Given the description of an element on the screen output the (x, y) to click on. 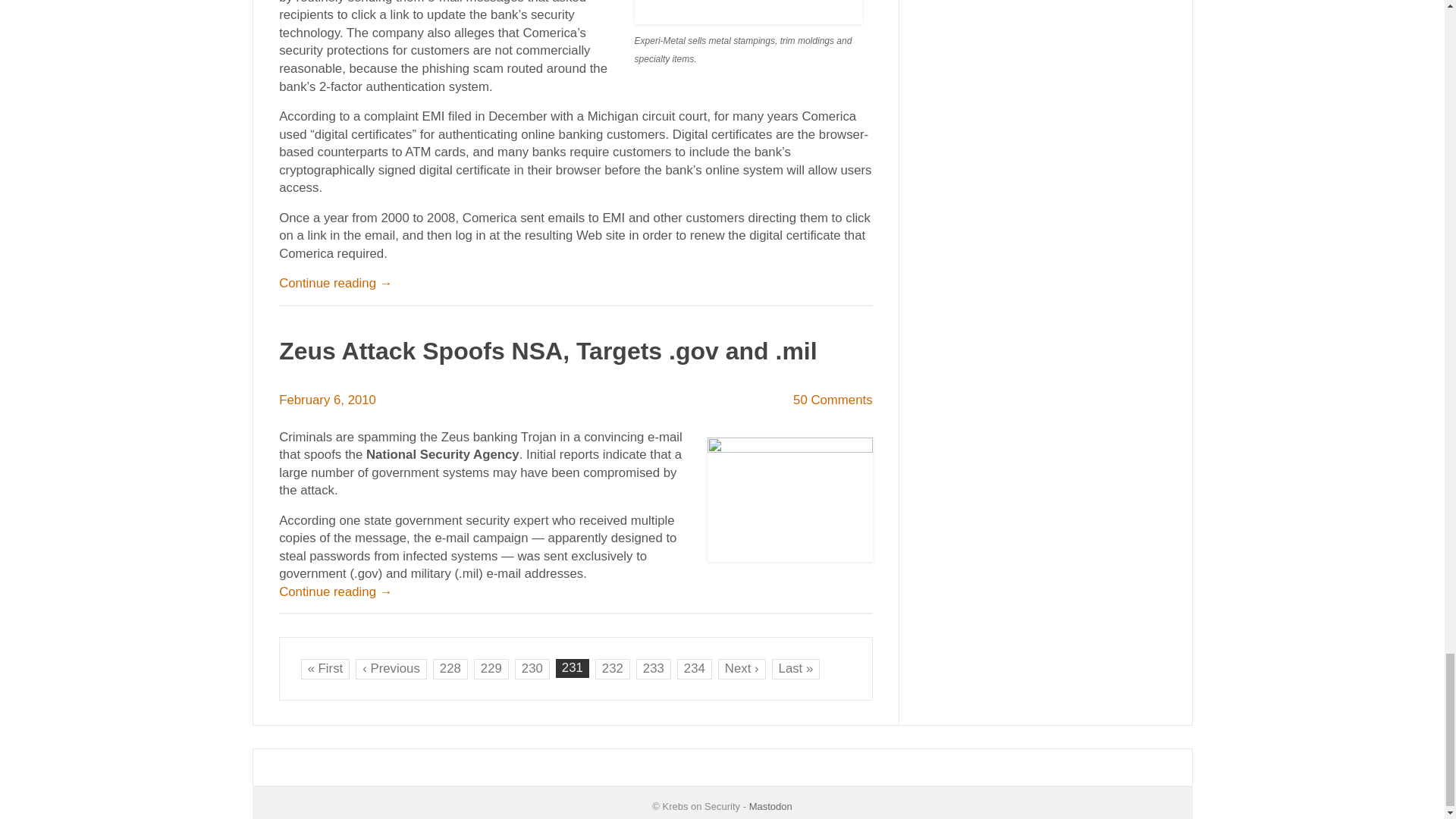
experi-metal (747, 12)
Permalink to Zeus Attack Spoofs NSA, Targets .gov and .mil (547, 350)
